Given the description of an element on the screen output the (x, y) to click on. 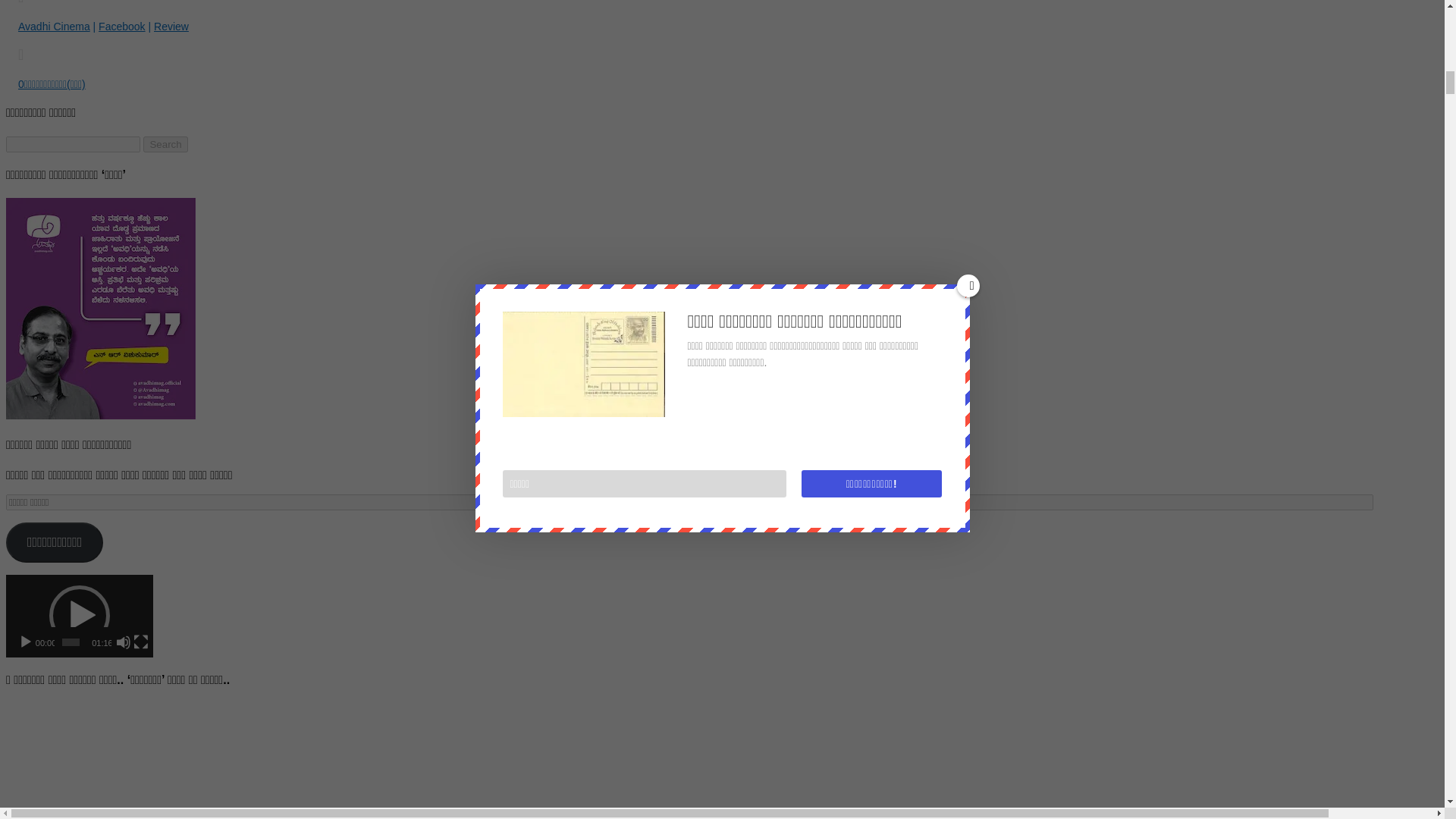
Avadhi Cinema (53, 26)
Search (164, 144)
Search (164, 144)
Review (171, 26)
Facebook (121, 26)
